Given the description of an element on the screen output the (x, y) to click on. 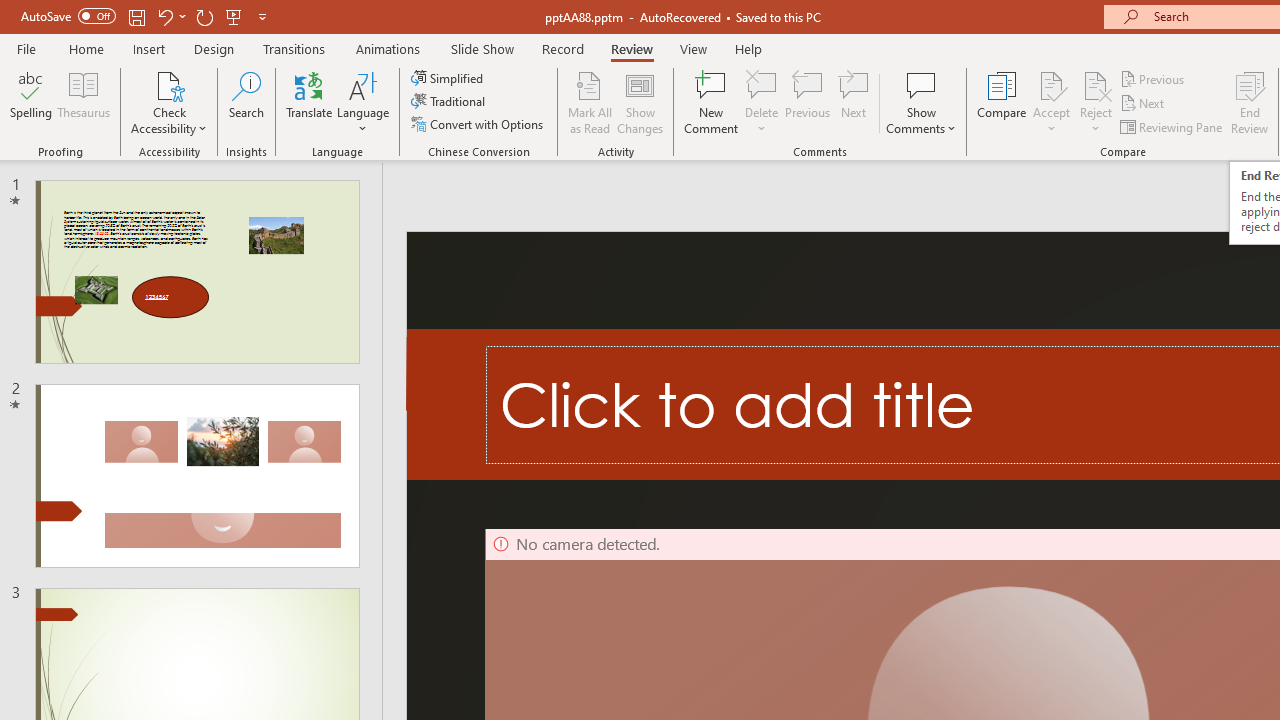
Reviewing Pane (1172, 126)
Traditional (449, 101)
Thesaurus... (83, 102)
Show Changes (639, 102)
End Review (1249, 102)
Reject (1096, 102)
